Given the description of an element on the screen output the (x, y) to click on. 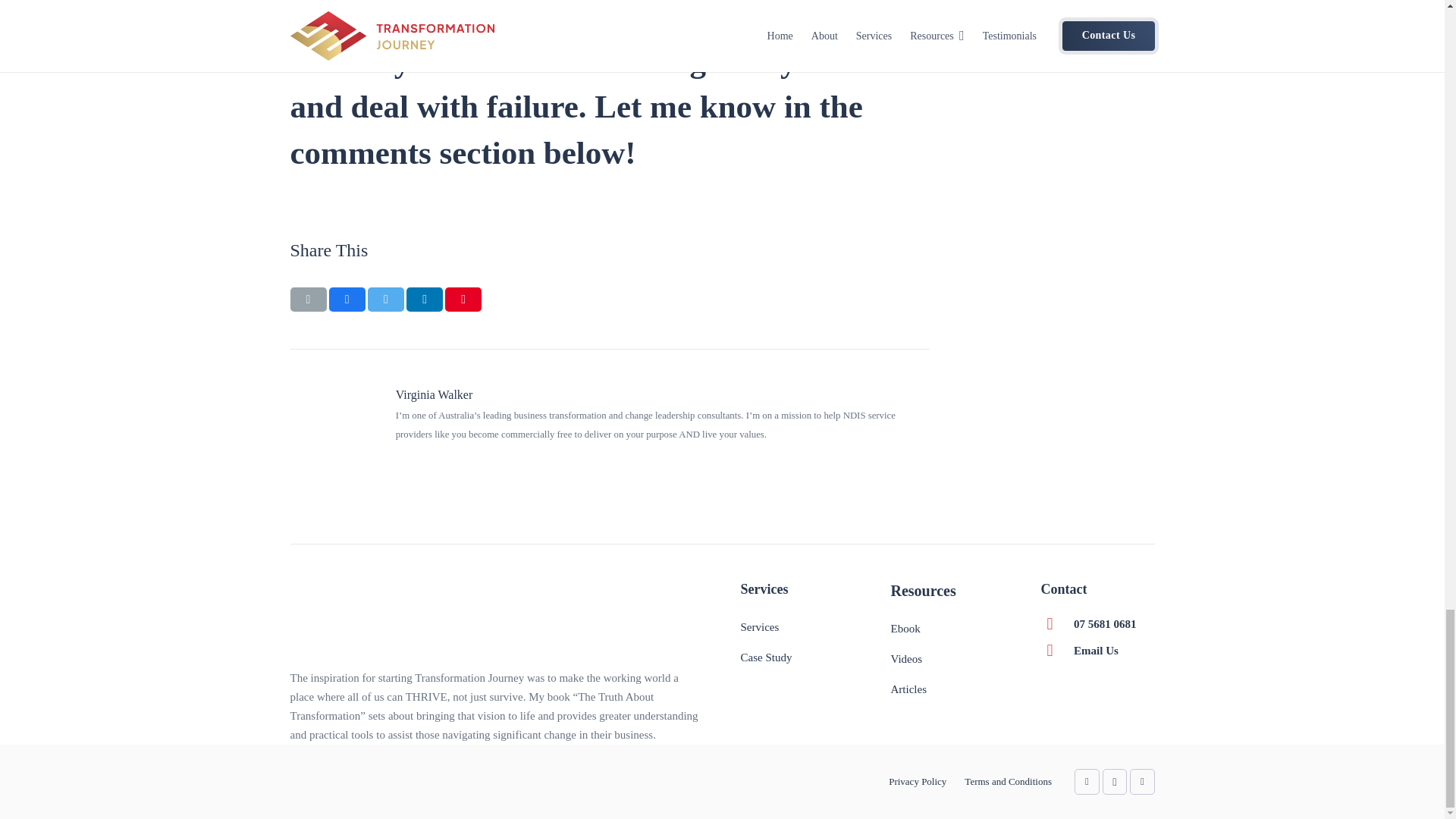
Ebook (904, 628)
Articles (907, 689)
YouTube (1141, 782)
Services (758, 626)
Share this (347, 299)
Instagram (1114, 782)
Case Study (765, 657)
Pin this (463, 299)
Share this (424, 299)
Email Us (1096, 650)
Email this (307, 299)
Virginia Walker (663, 394)
LinkedIn (1086, 782)
Videos (905, 658)
07 5681 0681 (1105, 623)
